Given the description of an element on the screen output the (x, y) to click on. 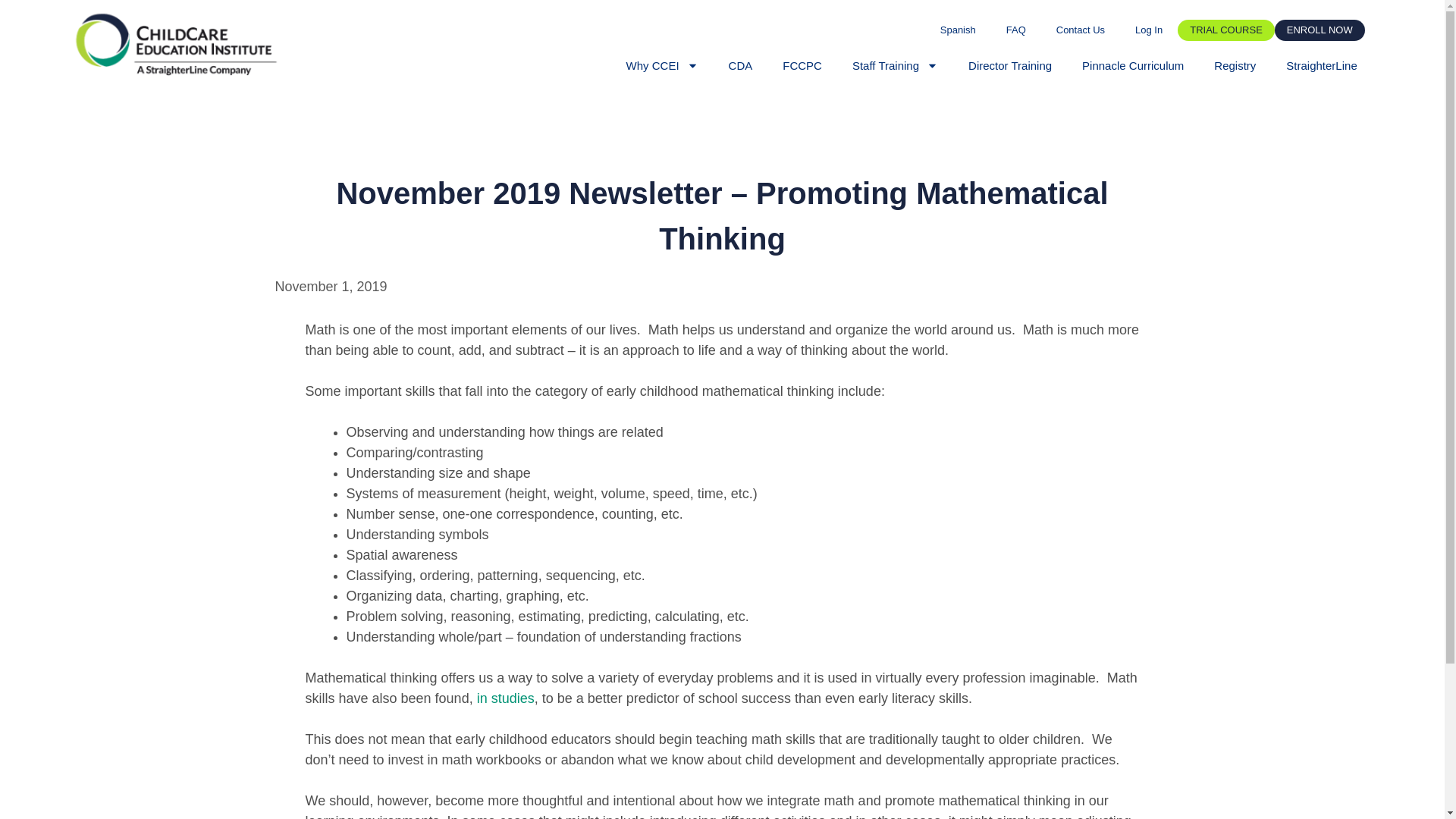
Contact Us (1080, 30)
Spanish (957, 30)
TRIAL COURSE (1226, 29)
FCCPC (802, 65)
Pinnacle Curriculum (1132, 65)
ENROLL NOW (1320, 29)
Director Training (1010, 65)
Log In (1148, 30)
CDA (740, 65)
StraighterLine (1321, 65)
FAQ (1016, 30)
Why CCEI (662, 65)
Registry (1234, 65)
Staff Training (895, 65)
